Given the description of an element on the screen output the (x, y) to click on. 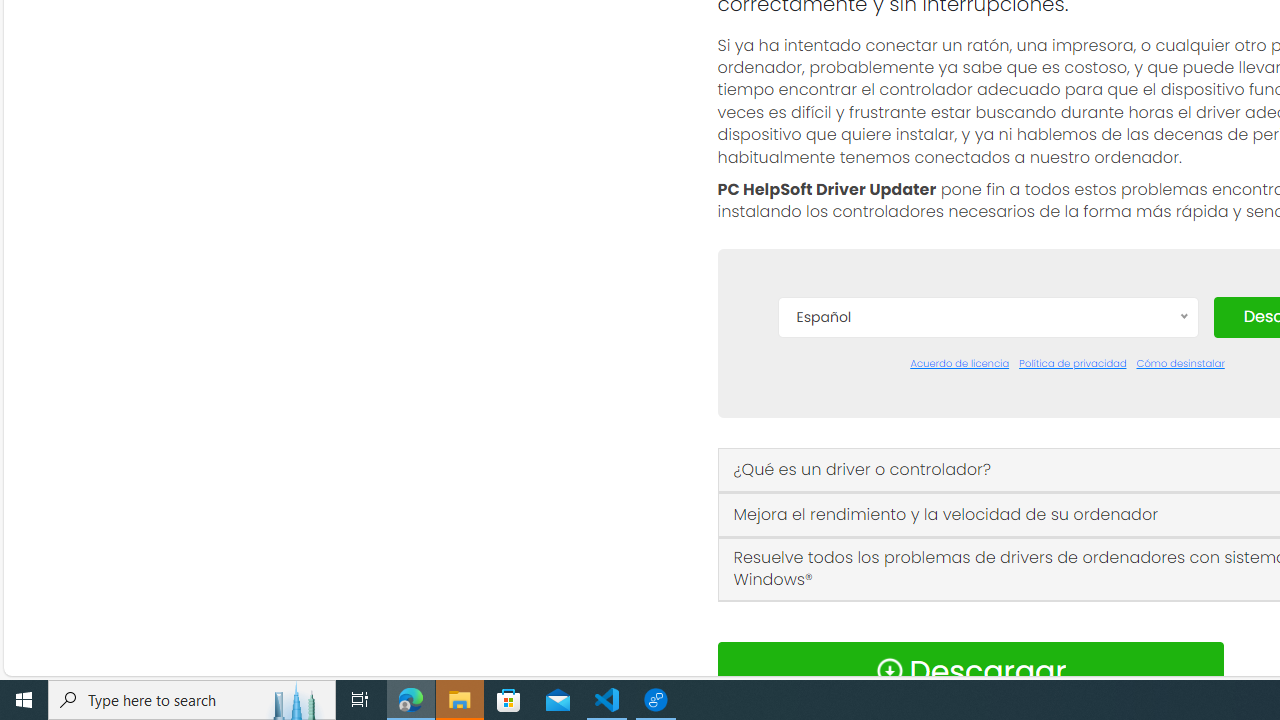
Nederlands (987, 621)
Dansk (987, 411)
Deutsch (987, 472)
Download Icon Descargar (969, 670)
Download Icon (889, 670)
Italiano (987, 591)
Norsk (987, 652)
Acuerdo de licencia (959, 363)
English (987, 501)
